Given the description of an element on the screen output the (x, y) to click on. 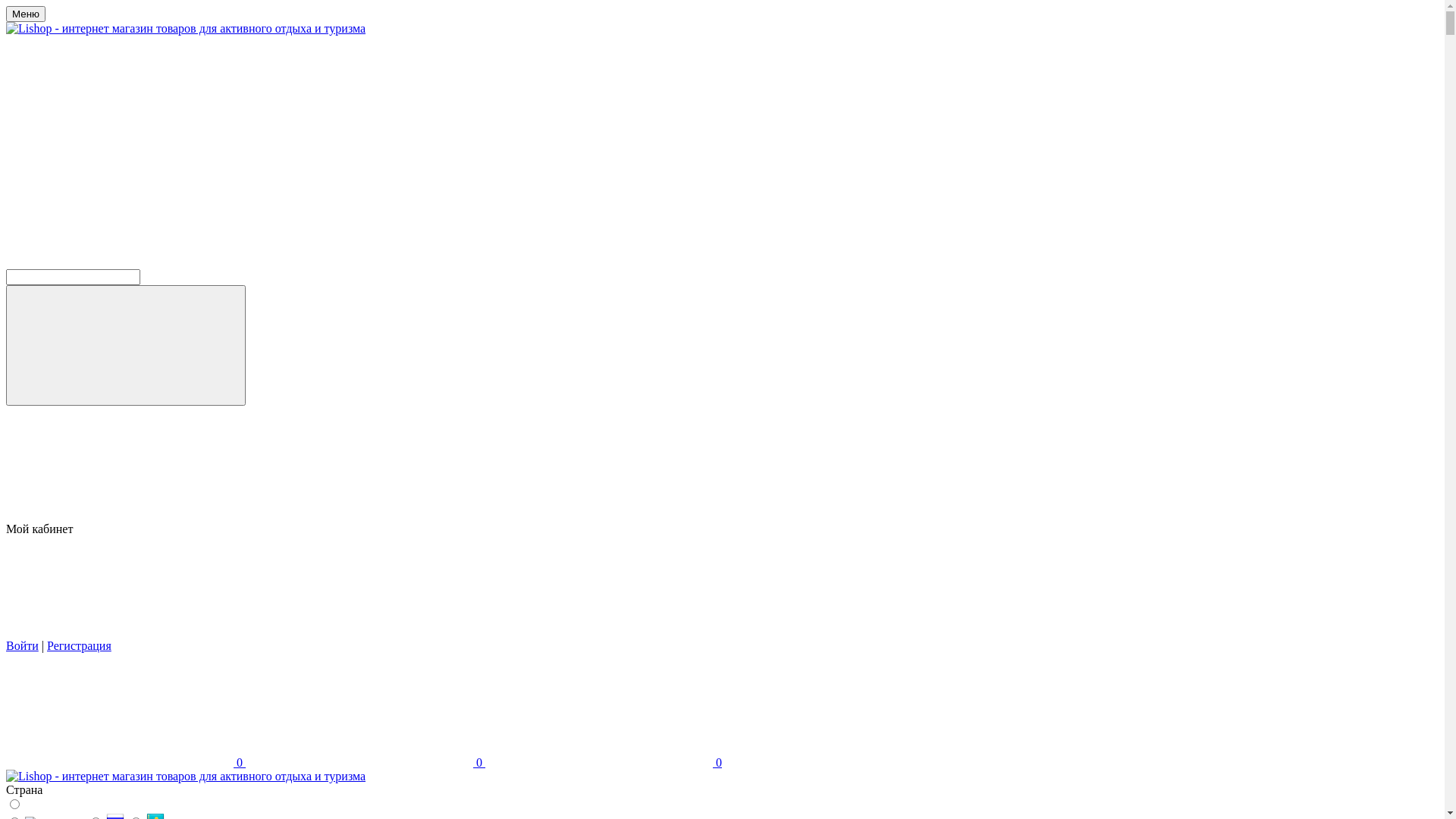
0 Element type: text (365, 762)
0 Element type: text (125, 762)
0 Element type: text (603, 762)
